Given the description of an element on the screen output the (x, y) to click on. 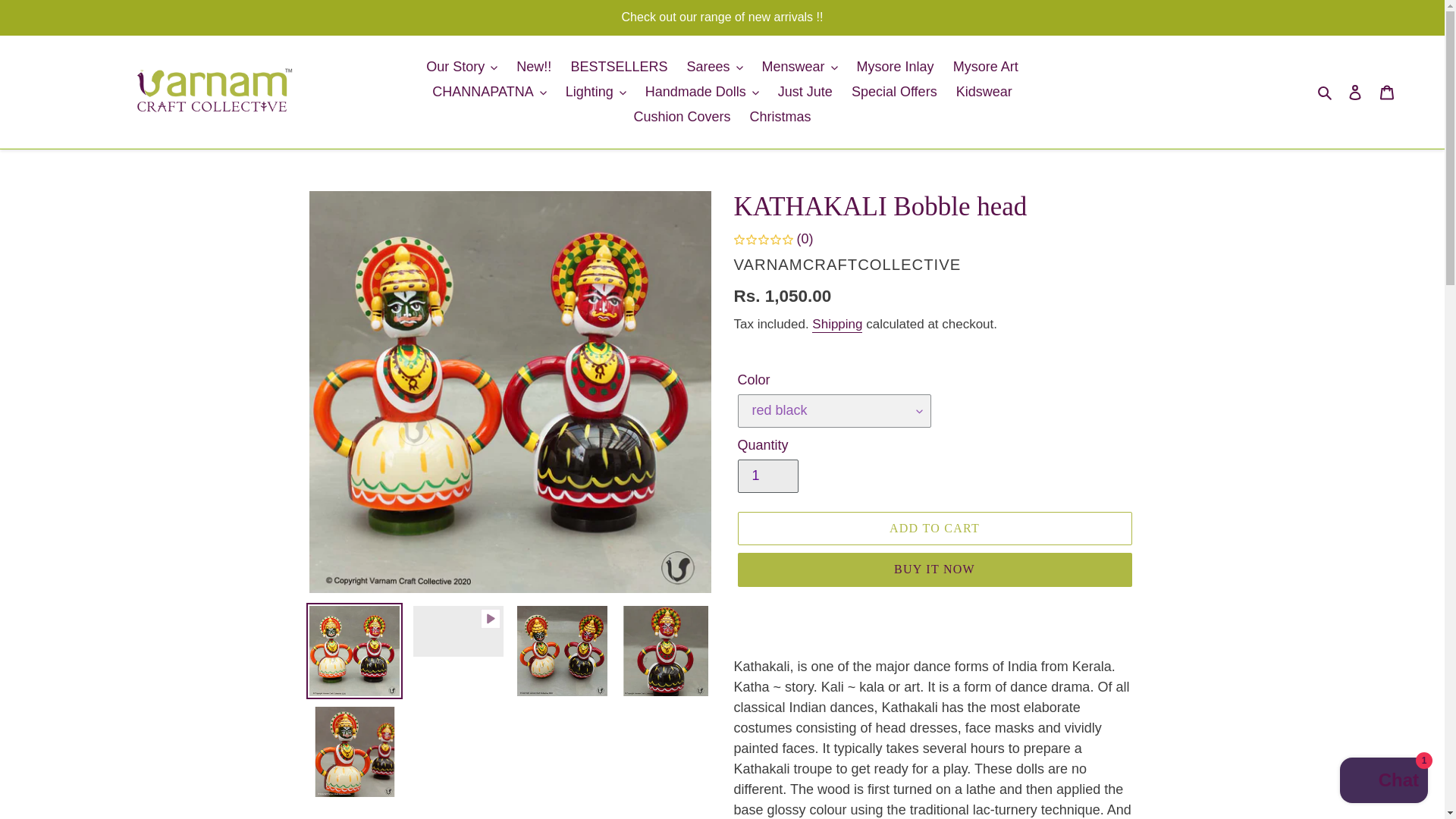
Mysore Inlay (895, 66)
Shopify online store chat (1383, 781)
CHANNAPATNA (489, 91)
BESTSELLERS (618, 66)
Mysore Art (985, 66)
New!! (533, 66)
Menswear (799, 66)
1 (766, 476)
Sarees (713, 66)
Our Story (462, 66)
